Given the description of an element on the screen output the (x, y) to click on. 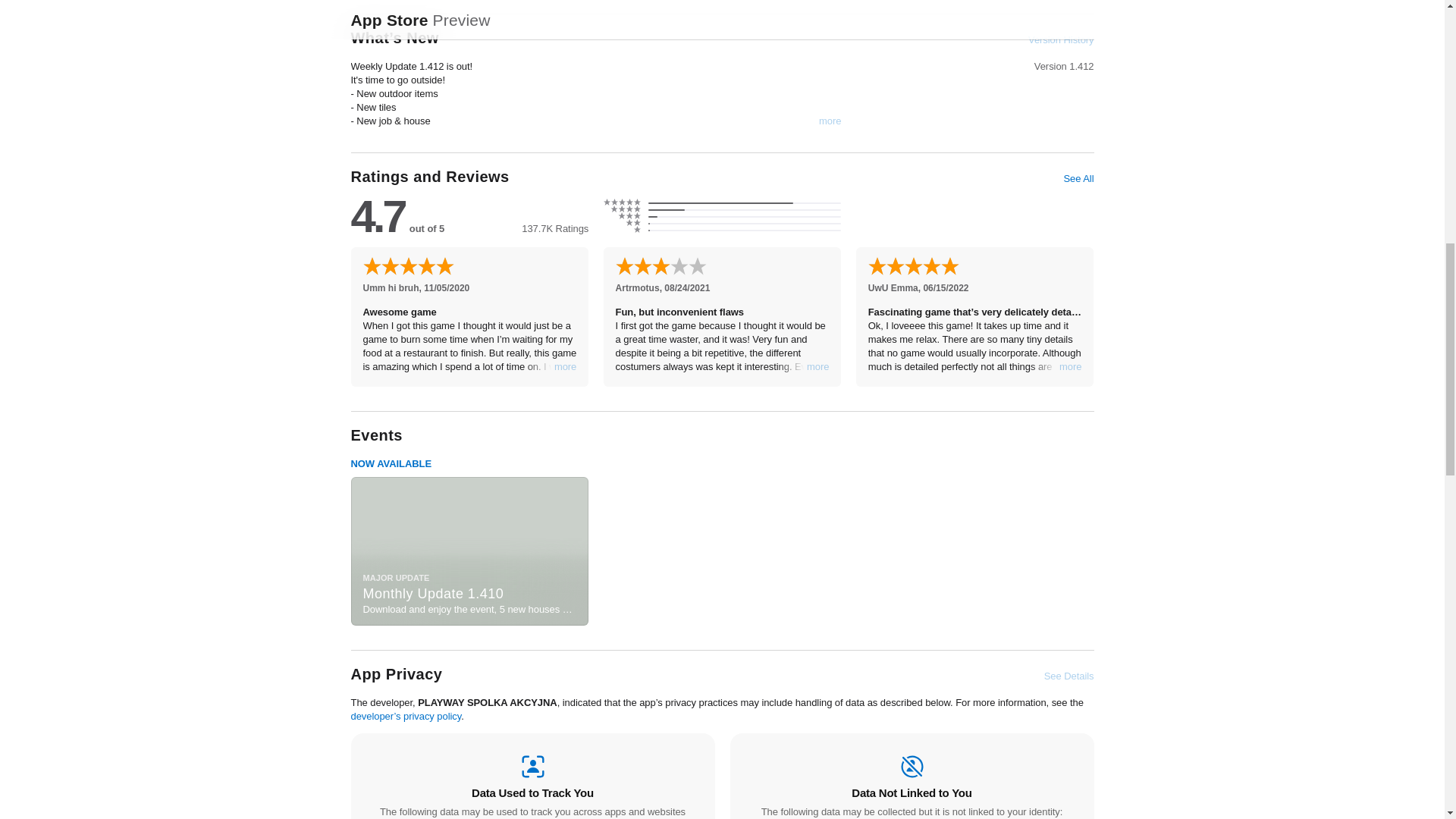
more (1070, 366)
more (565, 366)
more (829, 120)
Version History (1060, 39)
See Details (1068, 676)
more (817, 366)
See All (1077, 178)
